Given the description of an element on the screen output the (x, y) to click on. 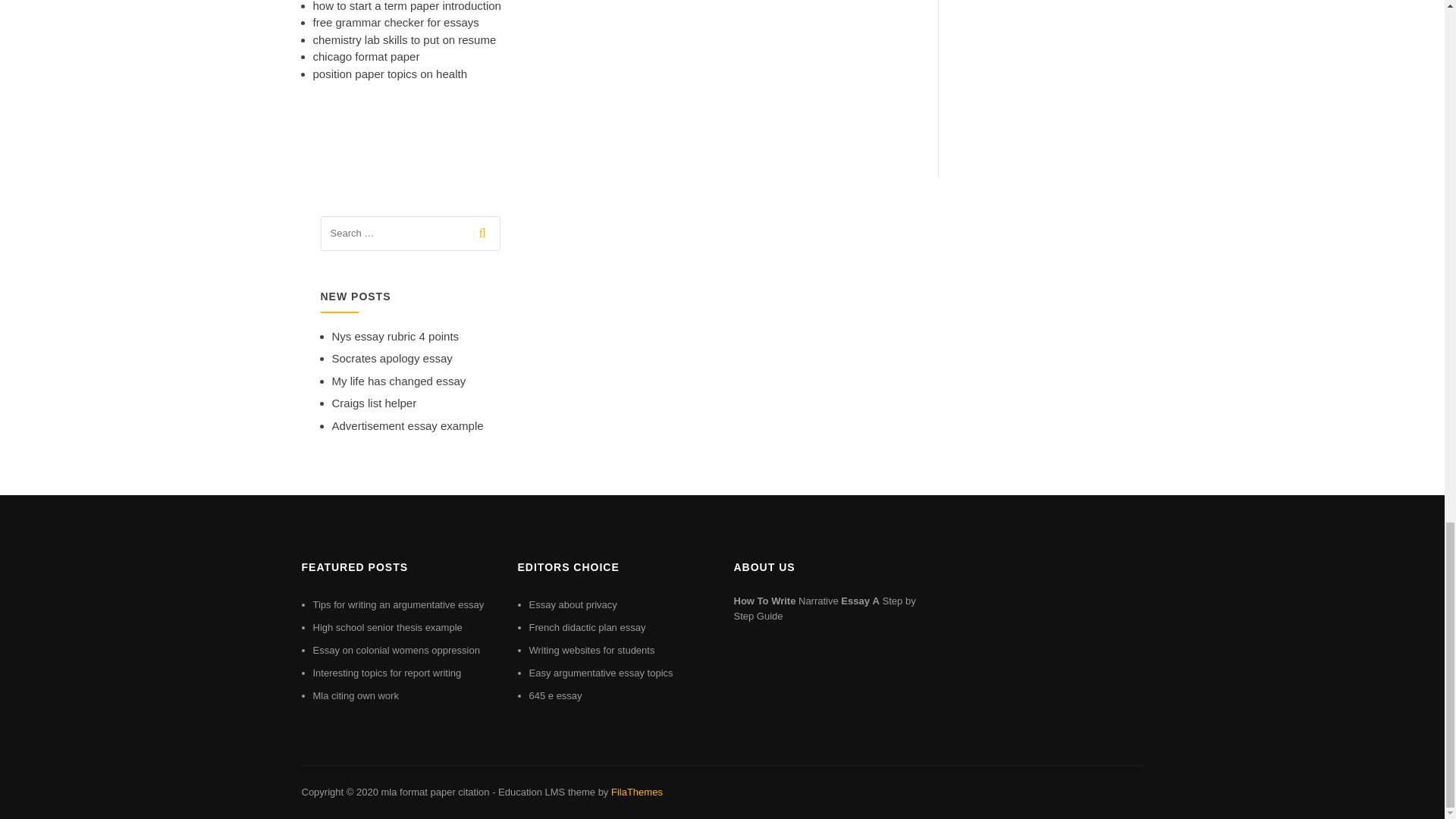
Essay about privacy (573, 604)
Craigs list helper (373, 402)
My life has changed essay (398, 380)
Tips for writing an argumentative essay (398, 604)
French didactic plan essay (587, 627)
Easy argumentative essay topics (600, 672)
Socrates apology essay (391, 358)
mla format paper citation (434, 791)
free grammar checker for essays (396, 21)
Essay on colonial womens oppression (396, 650)
